Given the description of an element on the screen output the (x, y) to click on. 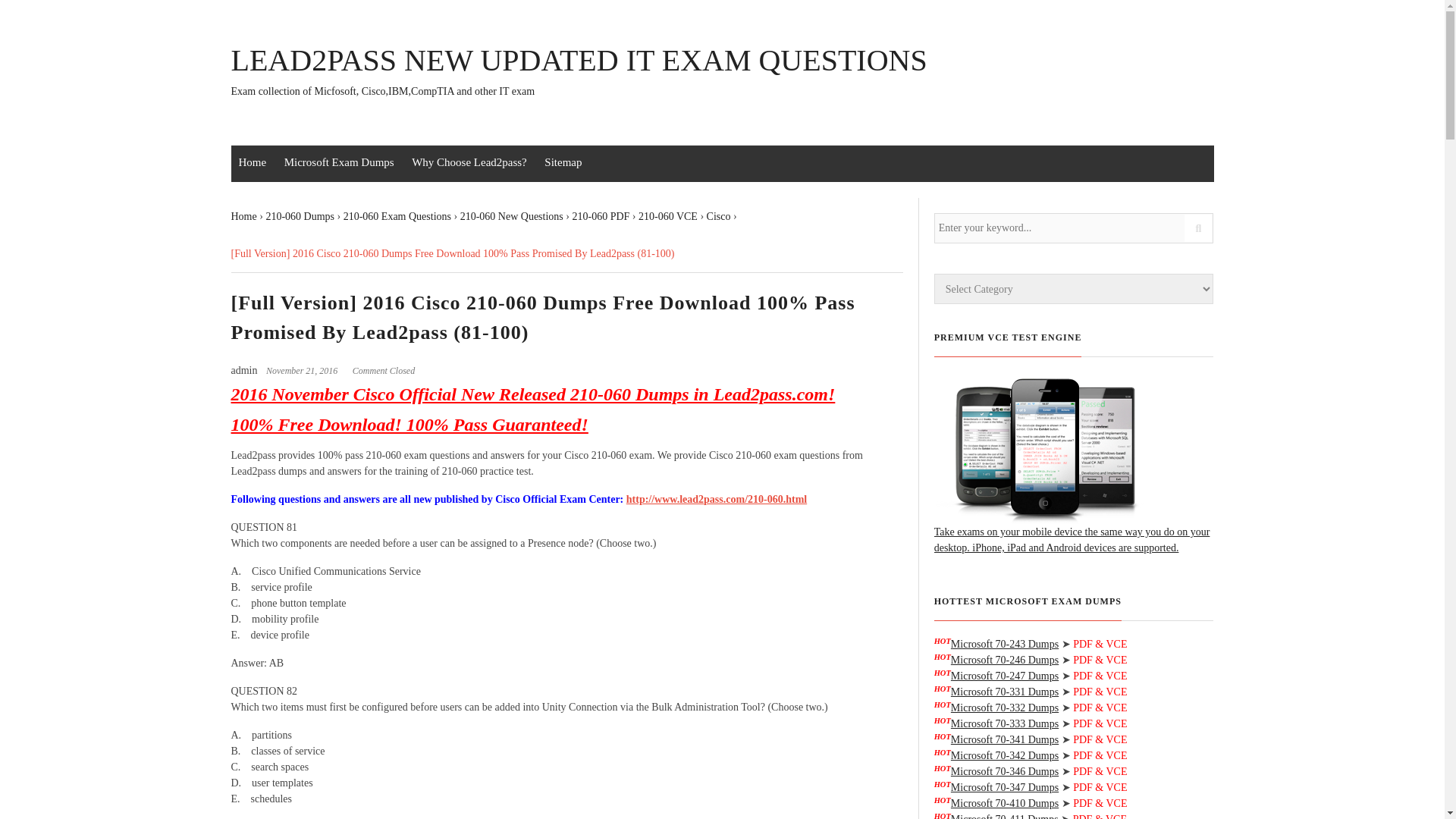
Home (251, 162)
Cisco (718, 215)
210-060 Exam Questions (397, 215)
210-060 PDF (600, 215)
Why Choose Lead2pass? (469, 162)
Sitemap (563, 162)
Home (243, 215)
210-060 VCE (668, 215)
Microsoft Exam Dumps (338, 162)
